Given the description of an element on the screen output the (x, y) to click on. 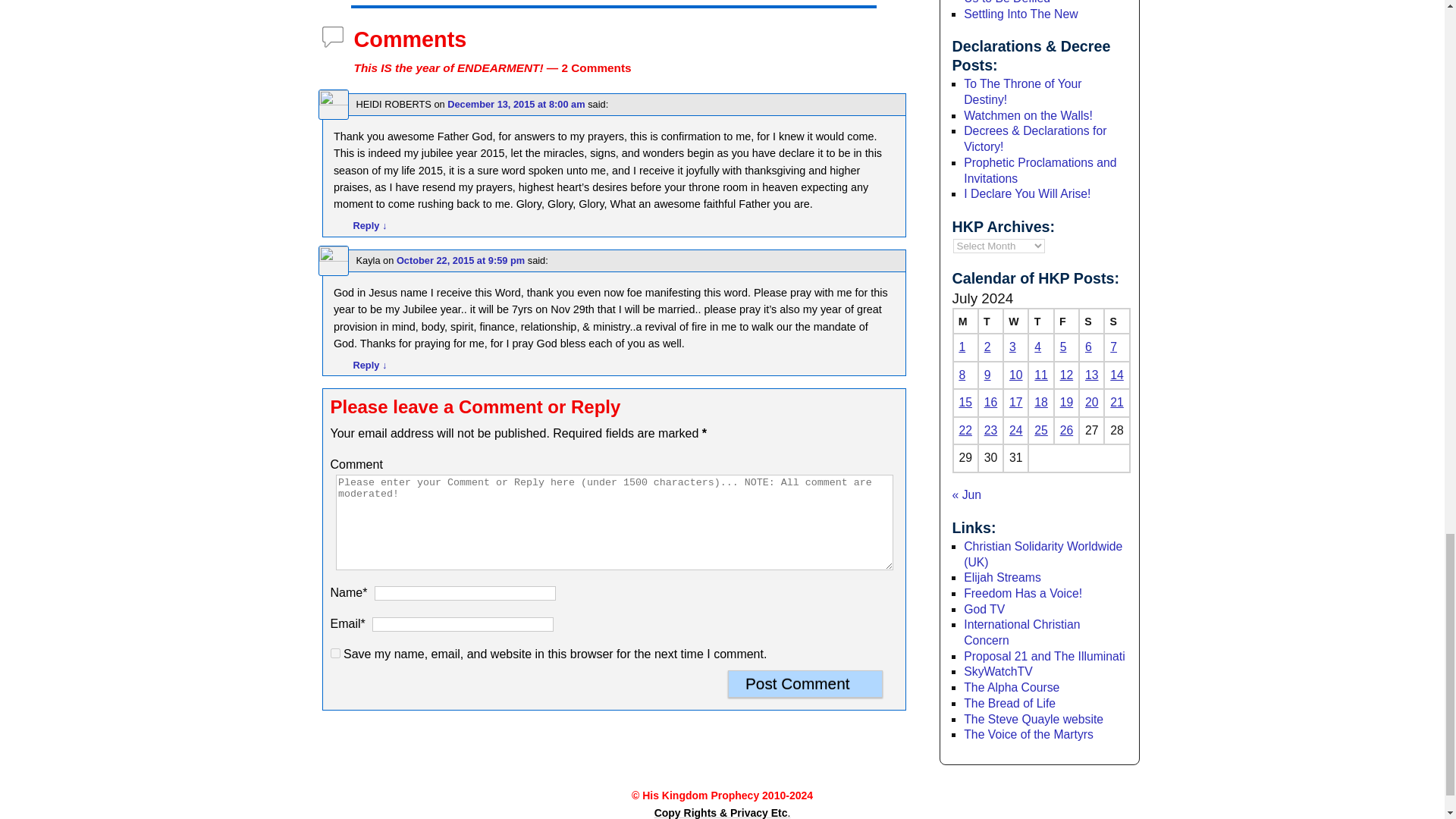
yes (335, 653)
Wednesday (1015, 320)
Friday (1066, 320)
Saturday (1090, 320)
Tuesday (990, 320)
Post Comment (805, 683)
Thursday (1039, 320)
Monday (964, 320)
Sunday (1116, 320)
